Given the description of an element on the screen output the (x, y) to click on. 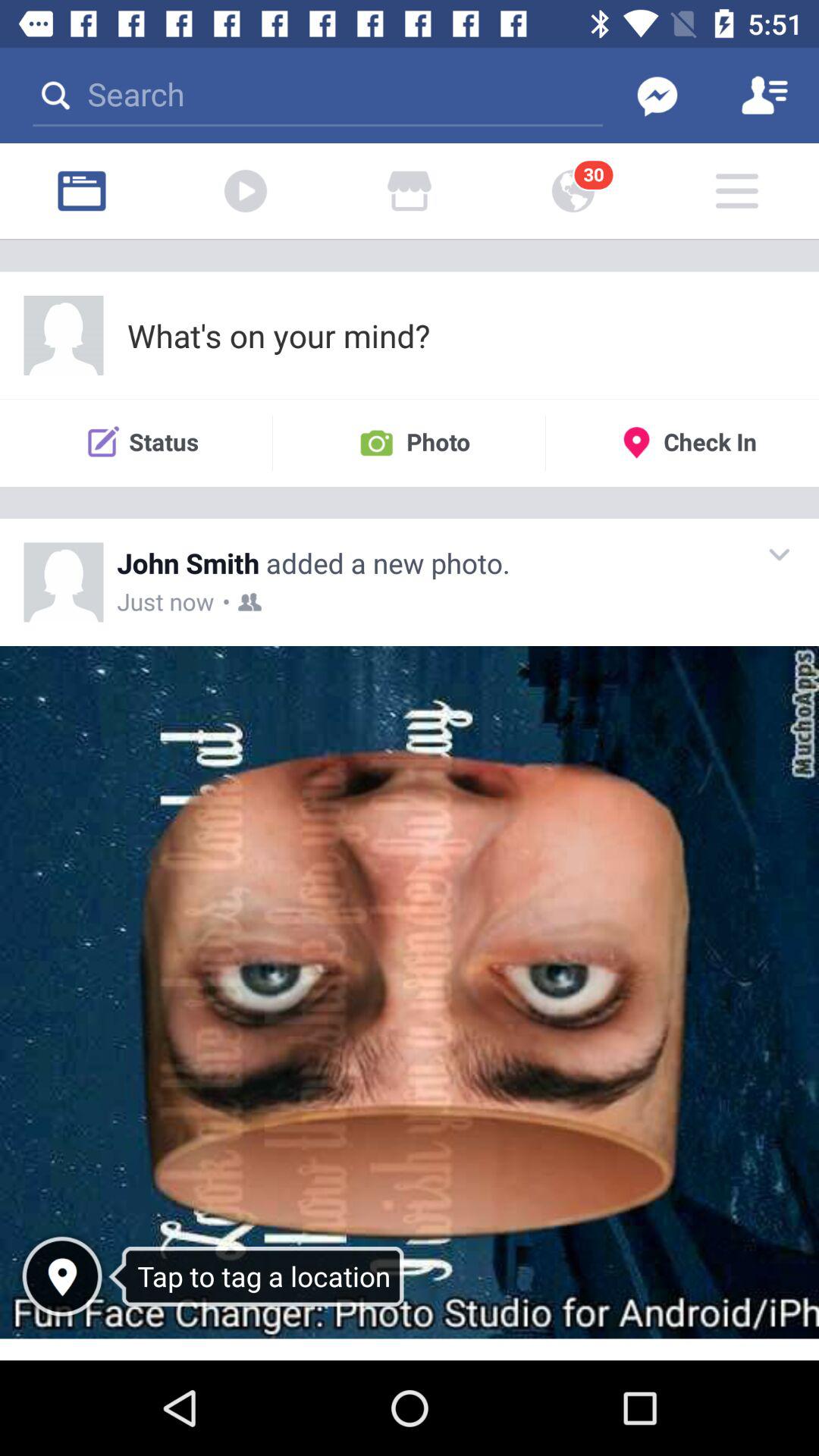
select the video icon which is after the the news feed icon (245, 190)
select profile button which is at top right side of the page (765, 95)
select the icon with the text field which says search at the top left corner (317, 95)
select the  text which says check in (682, 442)
select the text photo with camera icon (408, 442)
